Given the description of an element on the screen output the (x, y) to click on. 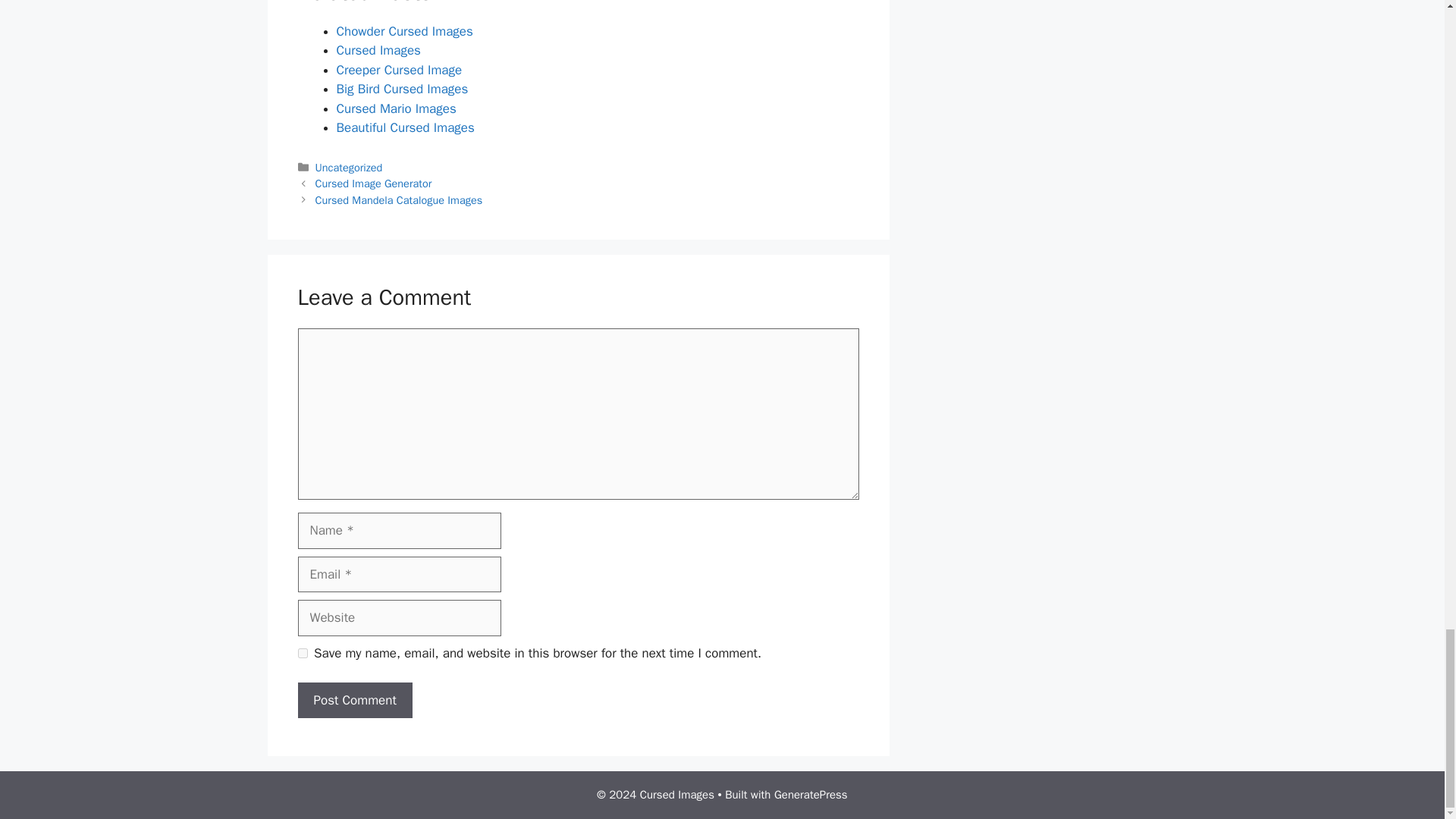
Post Comment (354, 700)
Cursed Mandela Catalogue Images (399, 200)
yes (302, 653)
Cursed Mario Images (396, 108)
Cursed Images (378, 50)
Creeper Cursed Image (399, 69)
Post Comment (354, 700)
Big Bird Cursed Images (402, 89)
Chowder Cursed Images (404, 31)
Uncategorized (348, 167)
Cursed Image Generator (373, 183)
GeneratePress (810, 794)
Beautiful Cursed Images (405, 127)
